Given the description of an element on the screen output the (x, y) to click on. 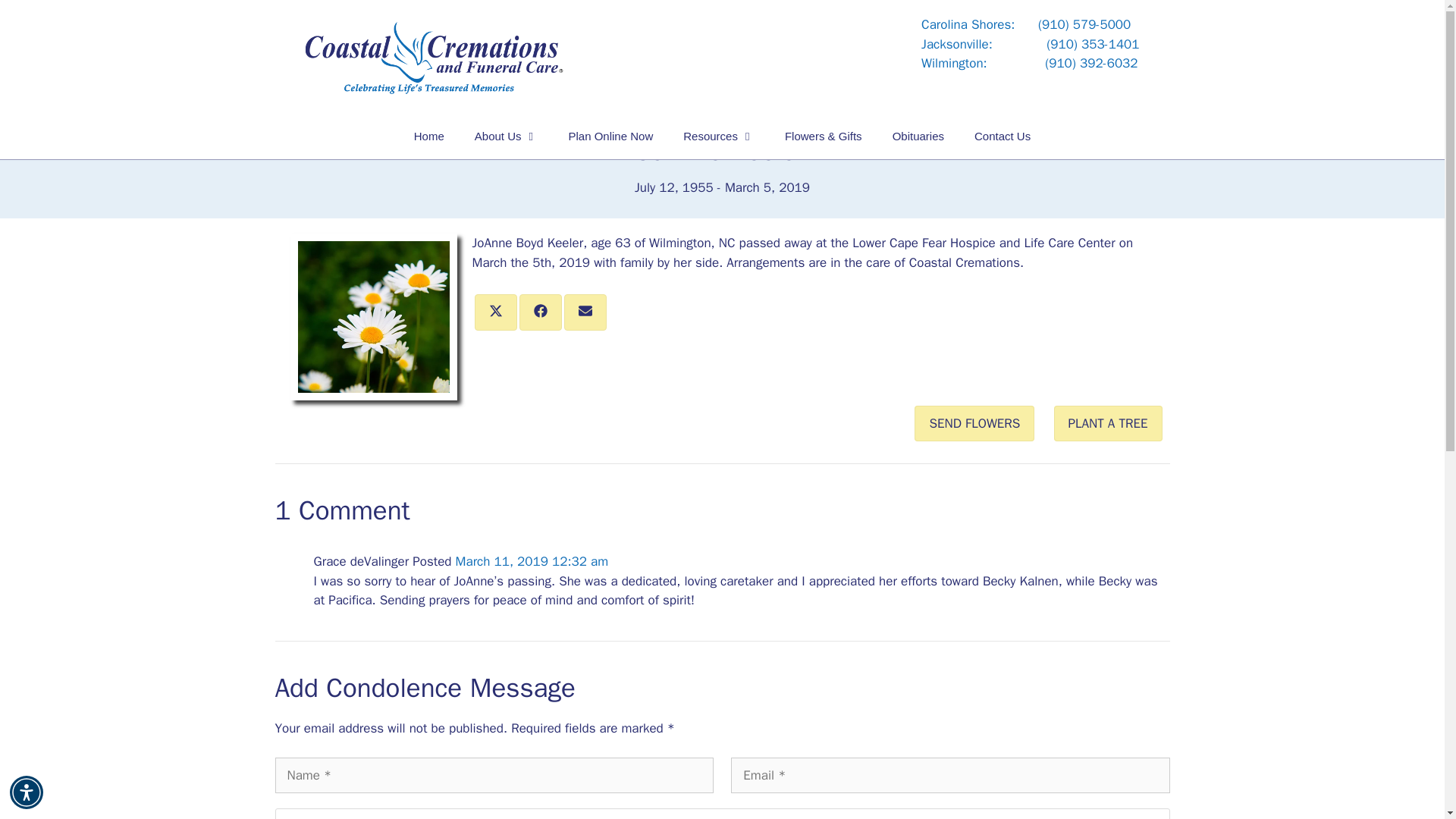
Resources (719, 135)
SHARE ON FACEBOOK (539, 312)
PLANT A TREE (1107, 422)
Home (429, 135)
Contact Us (1002, 135)
Accessibility Menu (26, 792)
About Us (506, 135)
SEND FLOWERS (973, 422)
SHARE ON EMAIL (585, 312)
Obituaries (918, 135)
Plan Online Now (610, 135)
